Given the description of an element on the screen output the (x, y) to click on. 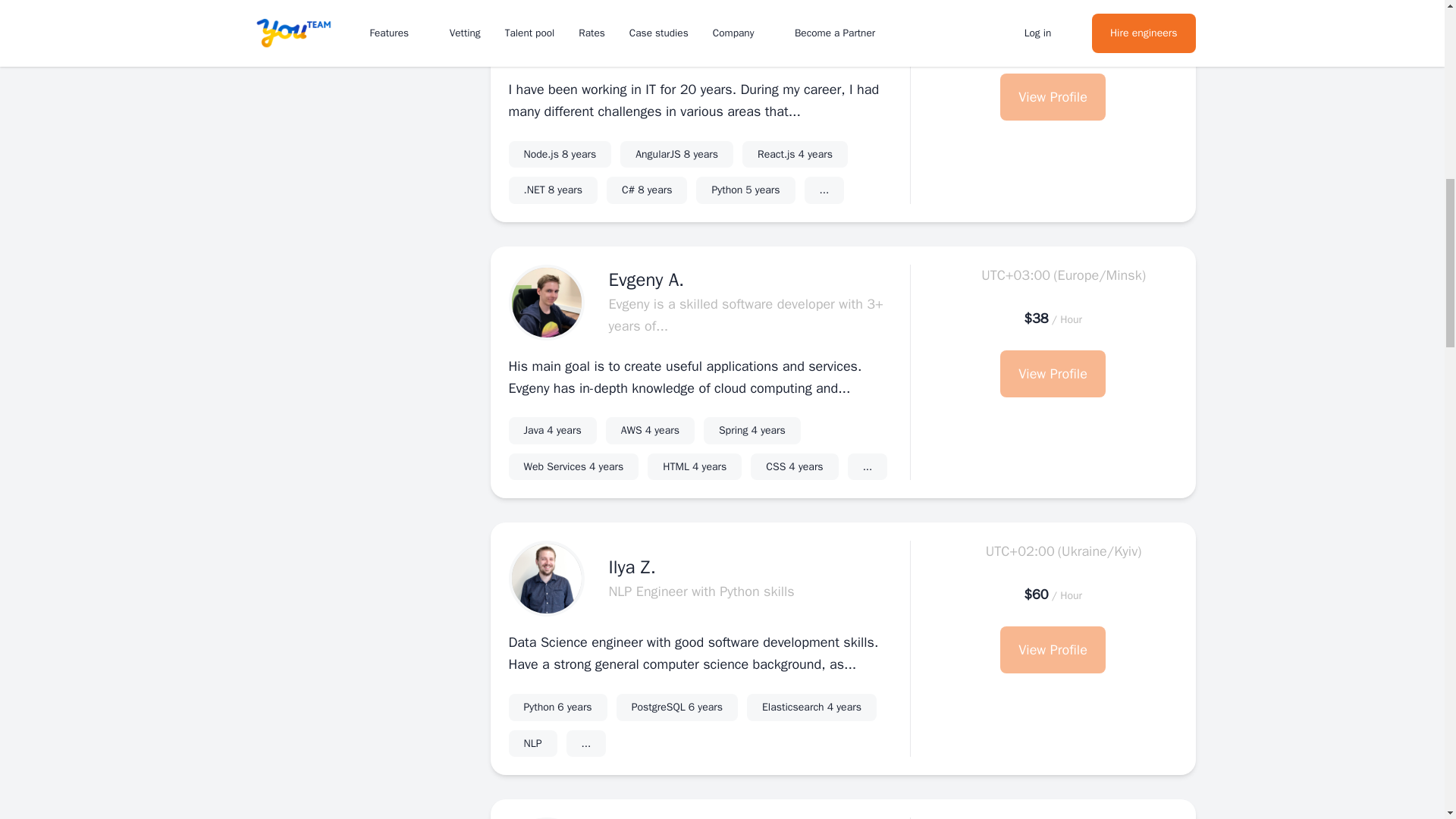
... (676, 154)
